Given the description of an element on the screen output the (x, y) to click on. 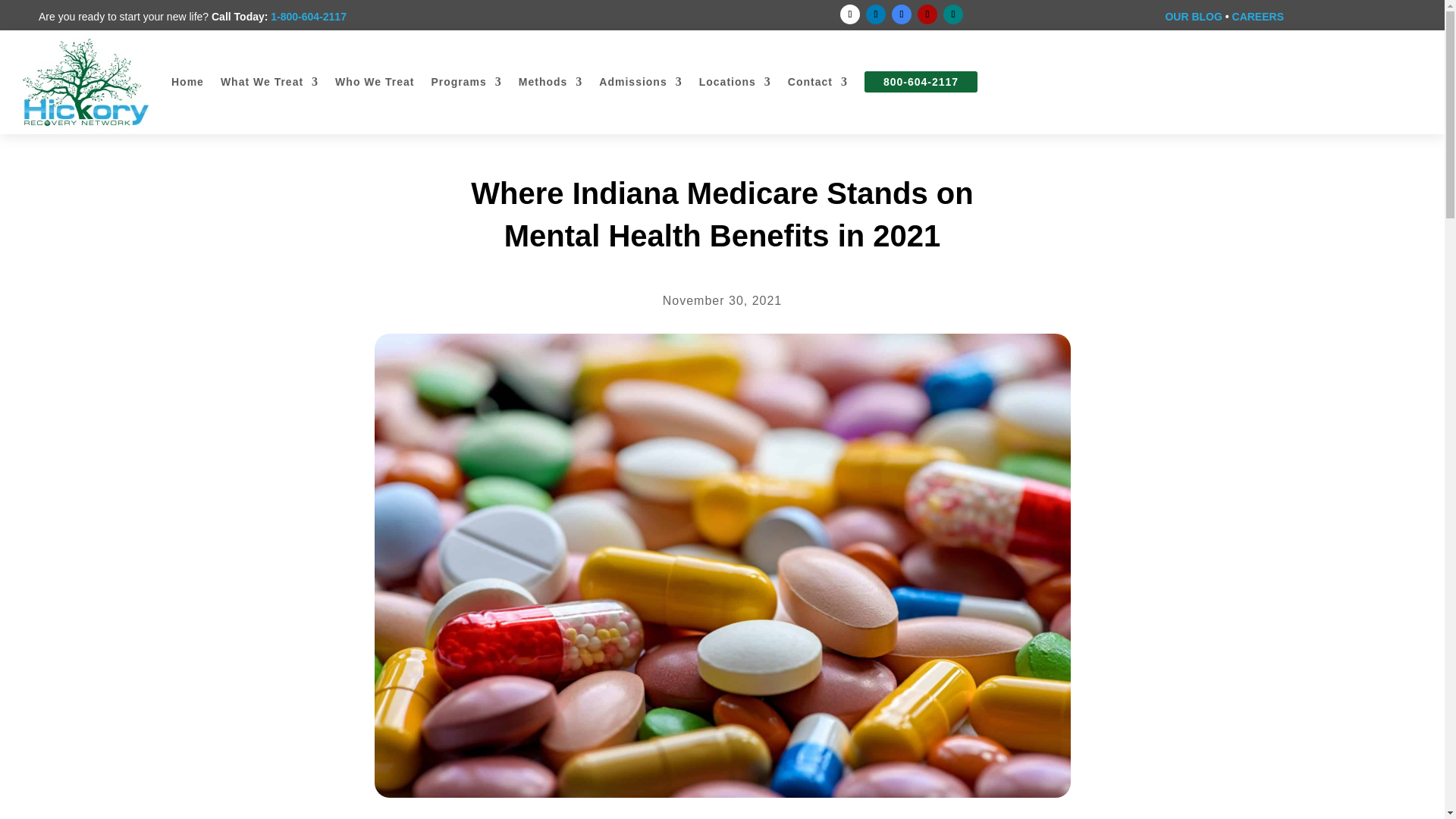
1-800-604-2117 (308, 16)
What We Treat (269, 82)
CAREERS (1257, 16)
Follow on LinkedIn (875, 14)
Follow on Yelp (927, 14)
Follow on Google (901, 14)
Follow on Bing (952, 14)
OUR BLOG (1192, 16)
Follow on Facebook (850, 14)
What We Treat (269, 82)
